Given the description of an element on the screen output the (x, y) to click on. 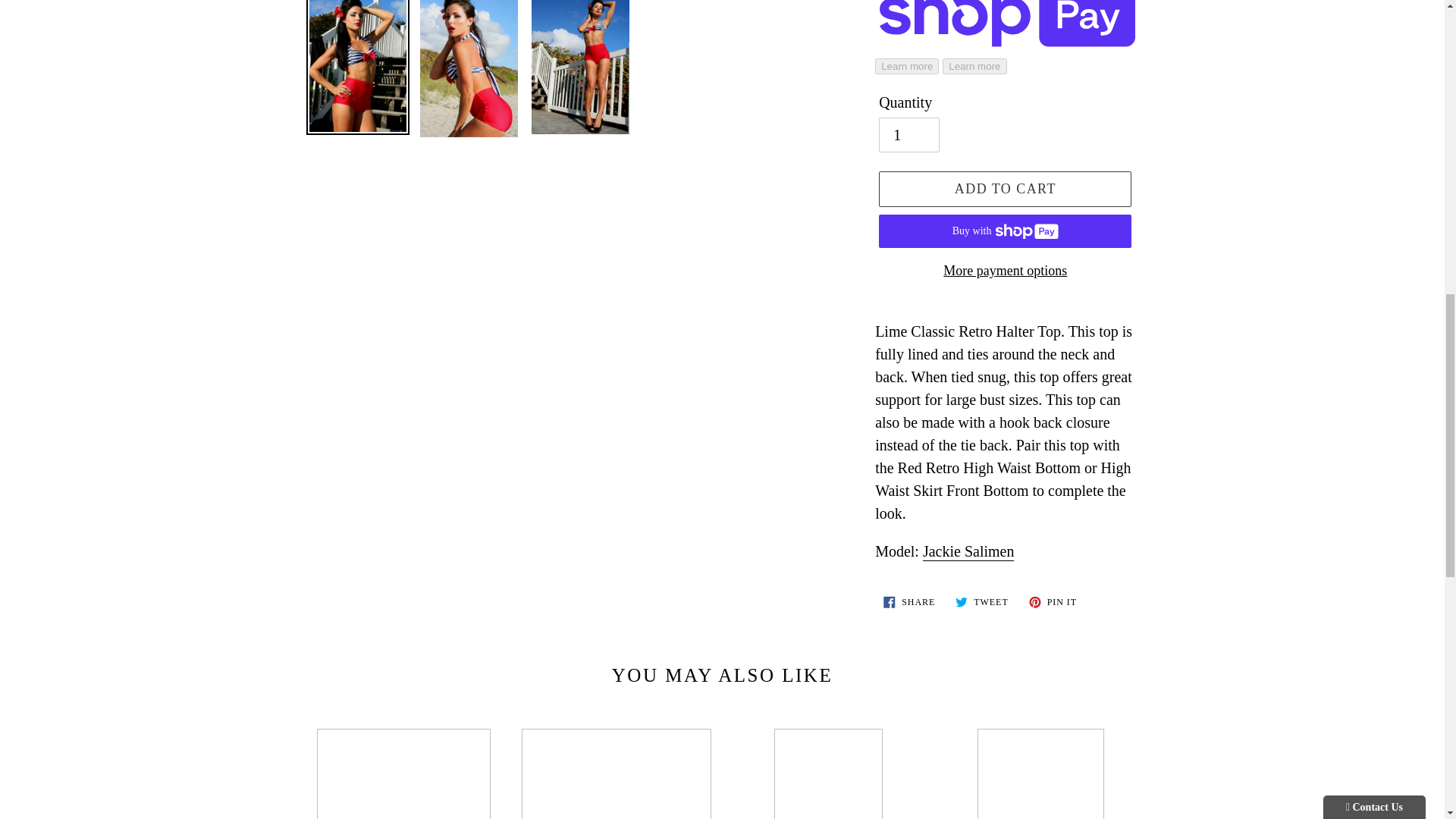
1 (909, 134)
Jackie salimen (968, 551)
